Given the description of an element on the screen output the (x, y) to click on. 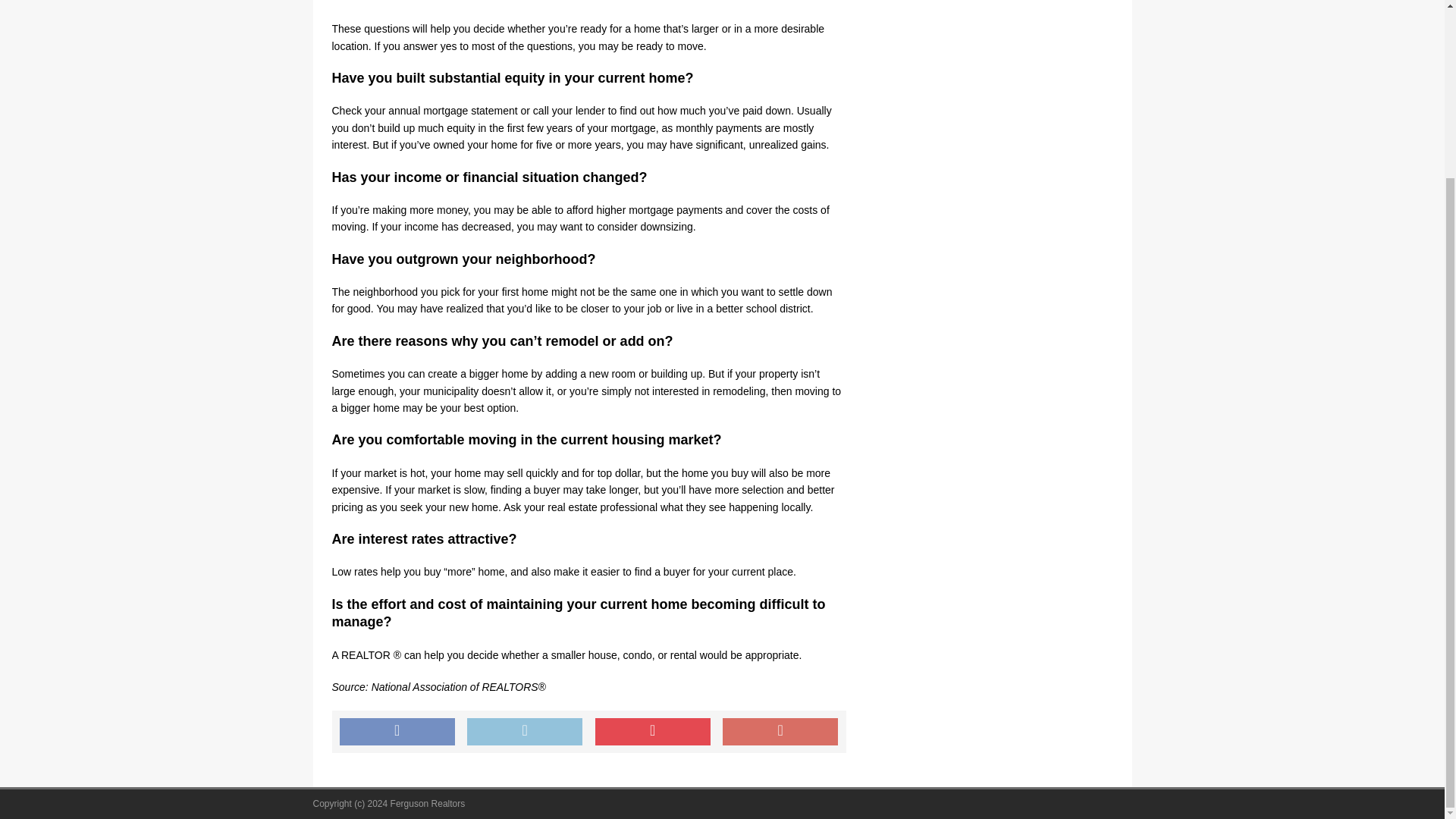
Pin This Post (652, 731)
Tweet This Post (524, 731)
Share on Facebook (396, 731)
